Given the description of an element on the screen output the (x, y) to click on. 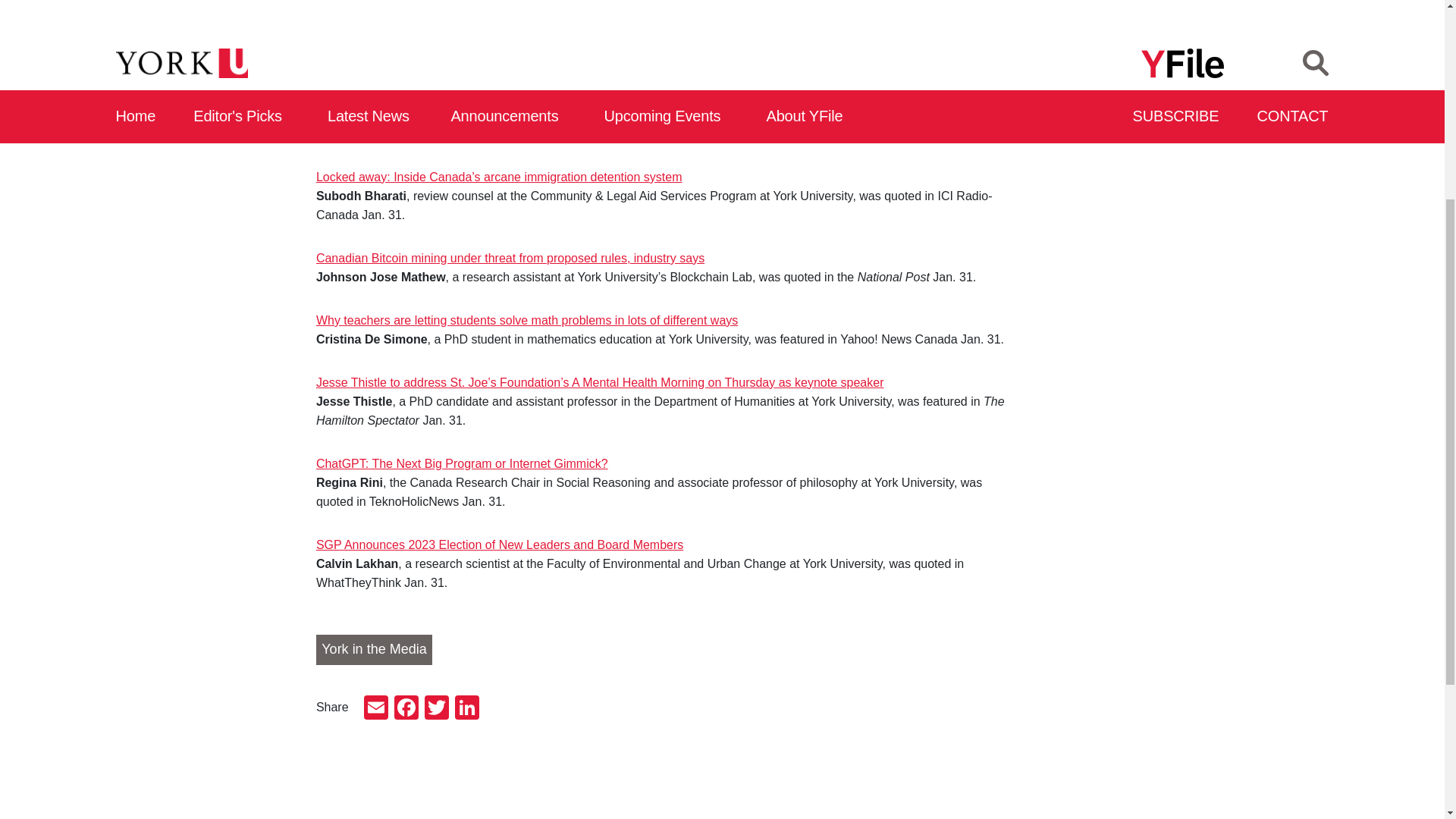
Email (1101, 13)
Email (1101, 13)
ChatGPT: The Next Big Program or Internet Gimmick? (461, 463)
Email (376, 709)
Facebook (1131, 13)
Facebook (406, 709)
Facebook (1131, 13)
LinkedIn (466, 709)
LinkedIn (1191, 13)
Twitter (1161, 13)
LinkedIn (1191, 13)
Twitter (436, 709)
